Given the description of an element on the screen output the (x, y) to click on. 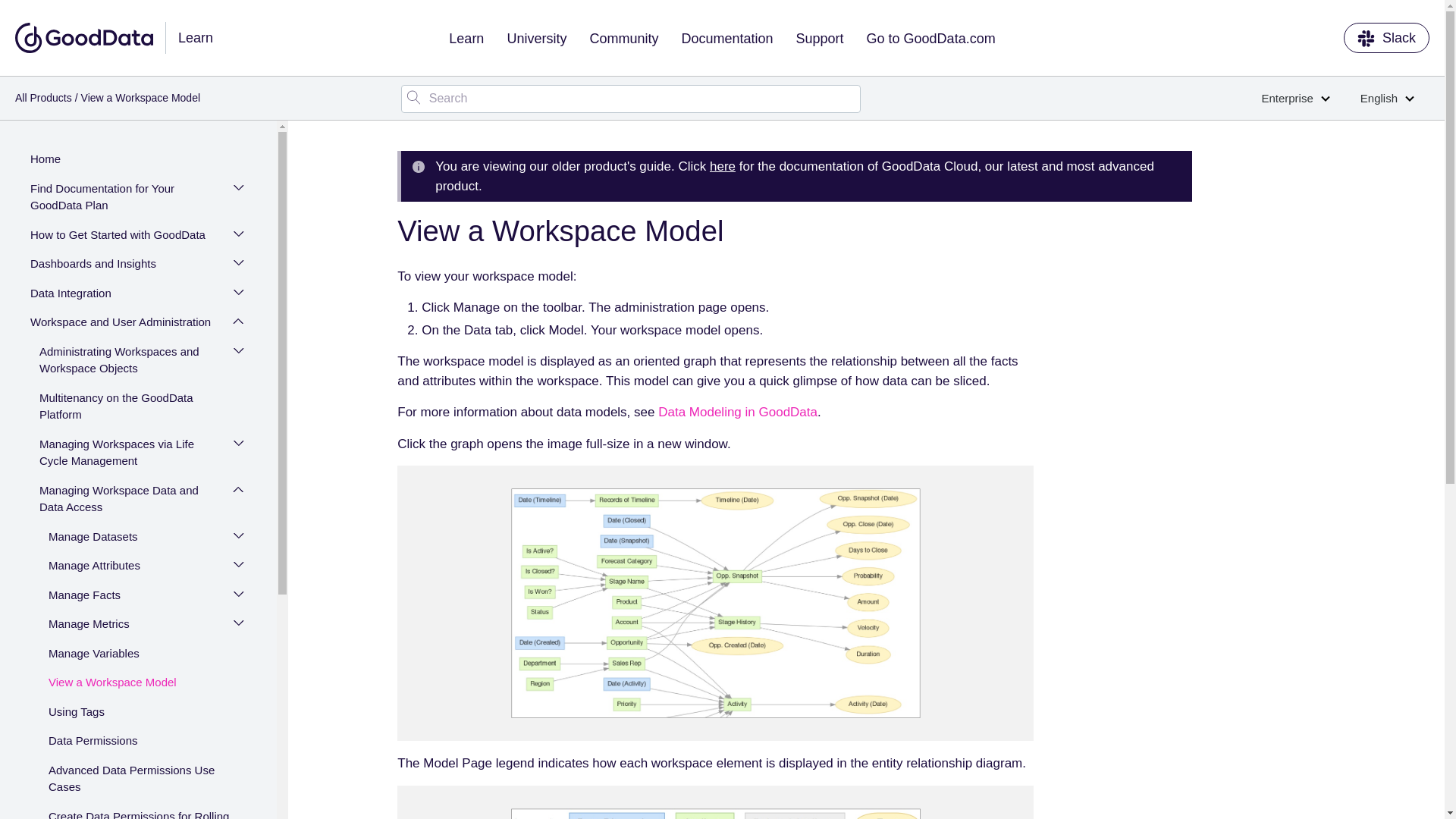
How to Get Started with GoodData (122, 236)
Go to GoodData.com (931, 37)
Support (820, 37)
University (536, 37)
Home (130, 160)
Find Documentation for Your GoodData Plan (122, 199)
Community (623, 37)
All Products (42, 97)
Documentation (726, 37)
Slack (1386, 37)
